Given the description of an element on the screen output the (x, y) to click on. 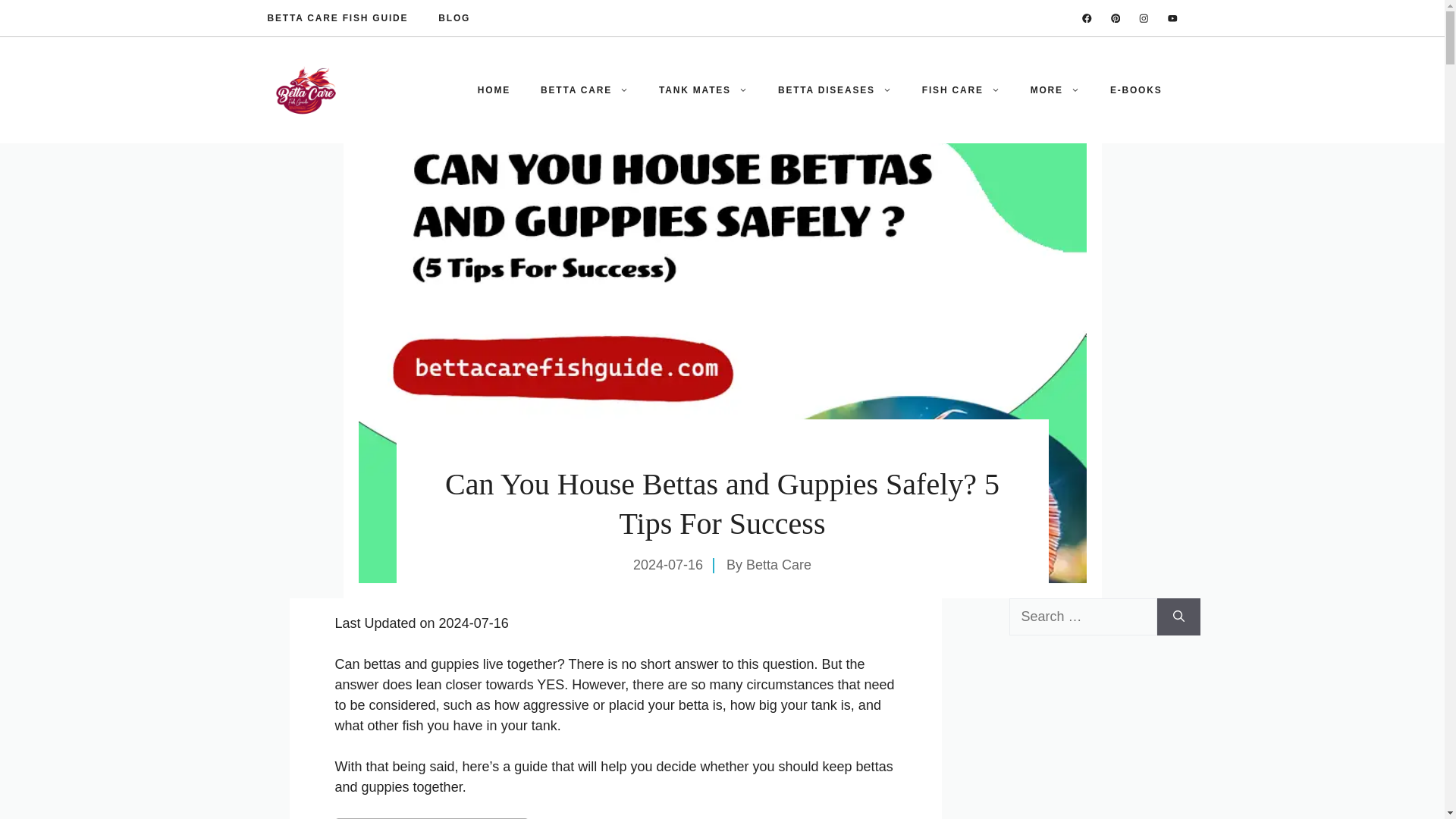
BETTA DISEASES (834, 90)
BETTA CARE FISH GUIDE (336, 18)
FISH CARE (960, 90)
HOME (494, 90)
BLOG (454, 18)
TANK MATES (702, 90)
BETTA CARE (584, 90)
